Given the description of an element on the screen output the (x, y) to click on. 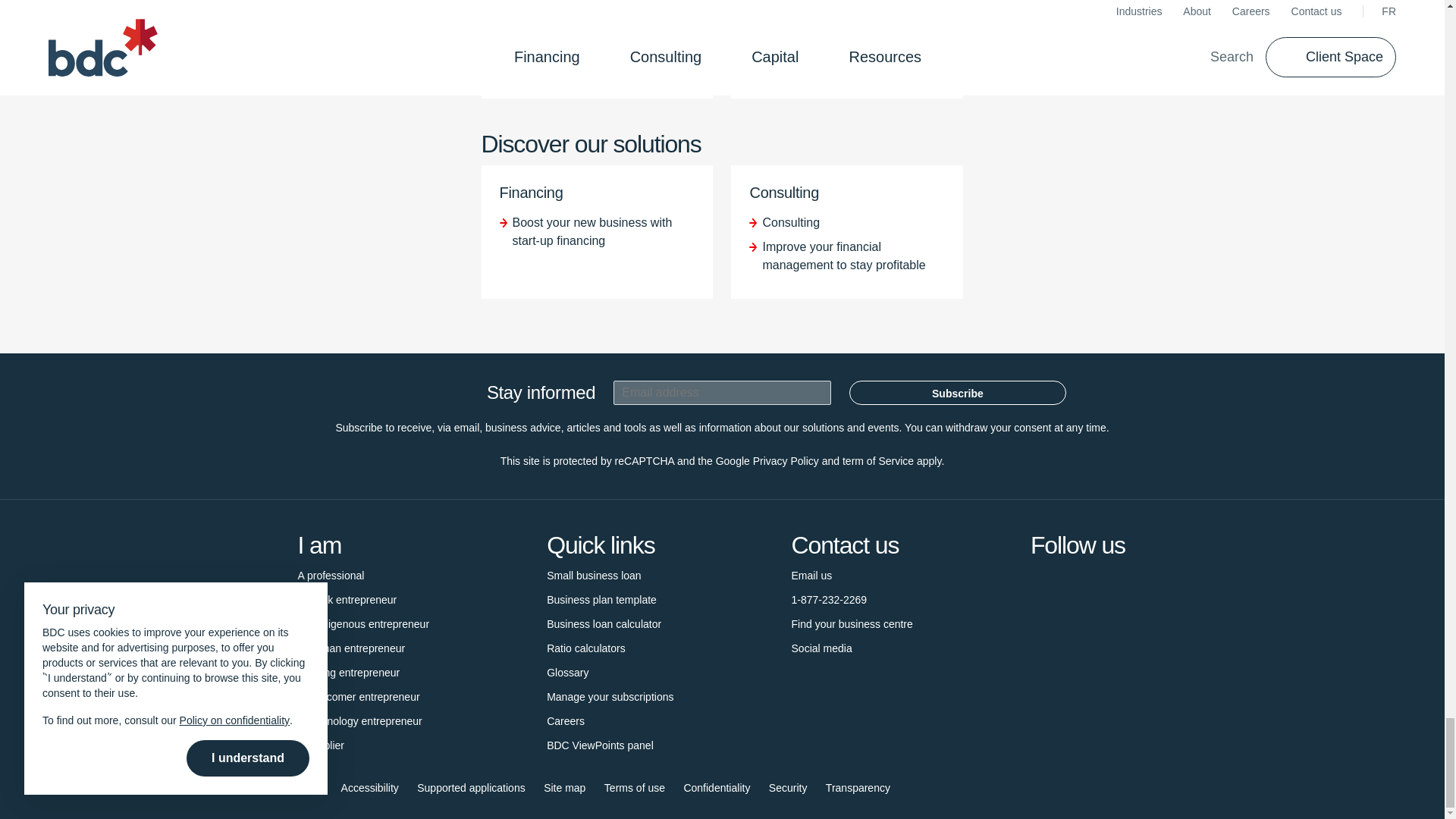
Business plan template (601, 599)
Supplier (320, 745)
Business dictionary (567, 672)
Manage my email subscriptions (609, 696)
Professional (330, 575)
Small business loan (594, 575)
Black Entrepreneur (346, 599)
Young entrepreneur (347, 672)
Business loan calculator (604, 623)
Woman entrepreneur (350, 648)
Careers (566, 721)
Technology (359, 721)
Indigenous entrepreneur (363, 623)
Financial tools (586, 648)
Newcomer entrepreneur (358, 696)
